Given the description of an element on the screen output the (x, y) to click on. 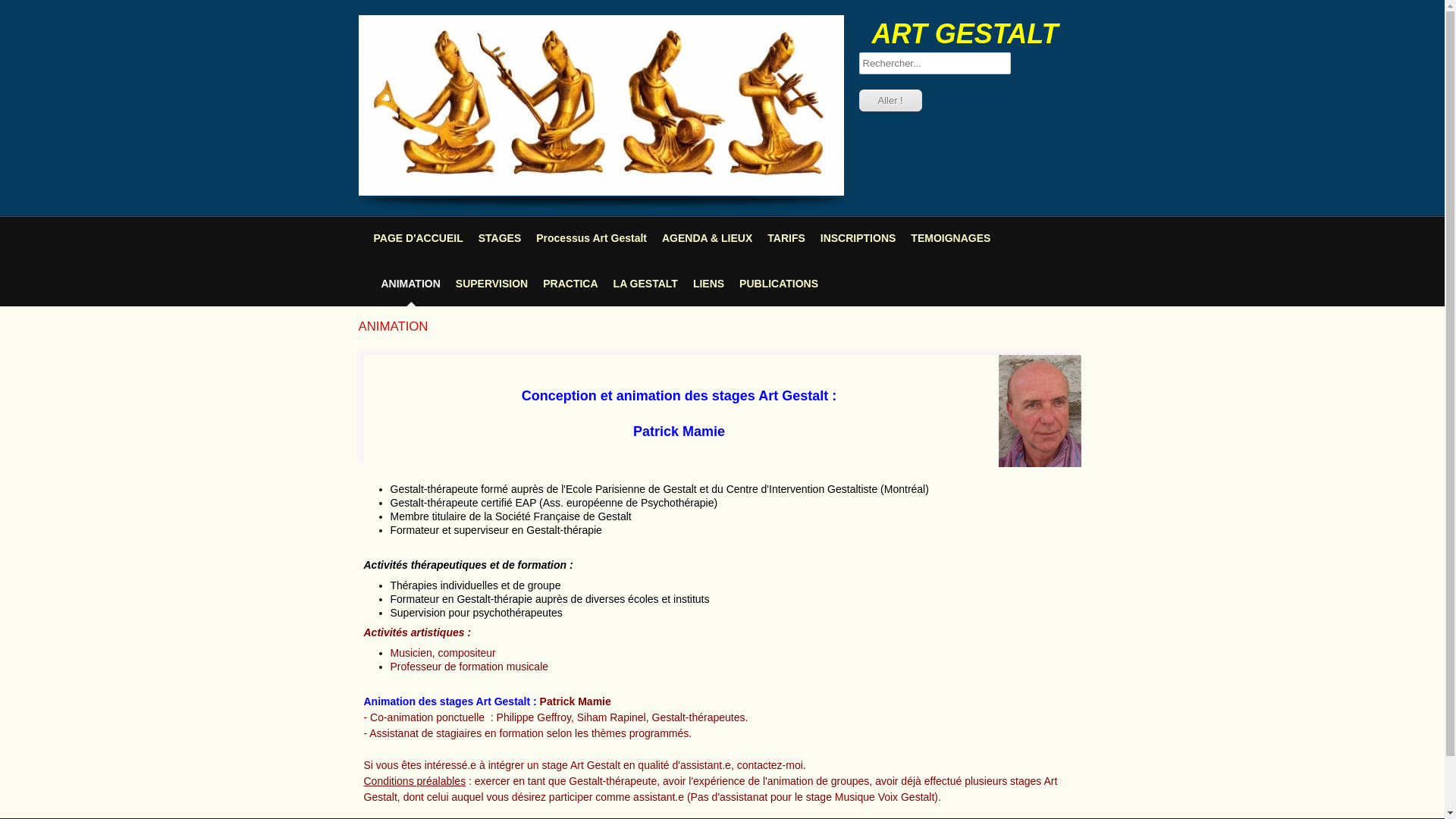
SUPERVISION Element type: text (491, 283)
STAGES Element type: text (499, 238)
Processus Art Gestalt Element type: text (591, 238)
TARIFS Element type: text (786, 238)
LIENS Element type: text (708, 283)
INSCRIPTIONS Element type: text (858, 238)
PRACTICA Element type: text (569, 283)
AGENDA & LIEUX Element type: text (707, 238)
ANIMATION Element type: text (409, 283)
LA GESTALT Element type: text (645, 283)
ART GESTALT Element type: text (964, 34)
PUBLICATIONS Element type: text (778, 283)
TEMOIGNAGES Element type: text (950, 238)
PAGE D'ACCUEIL Element type: text (417, 238)
